Given the description of an element on the screen output the (x, y) to click on. 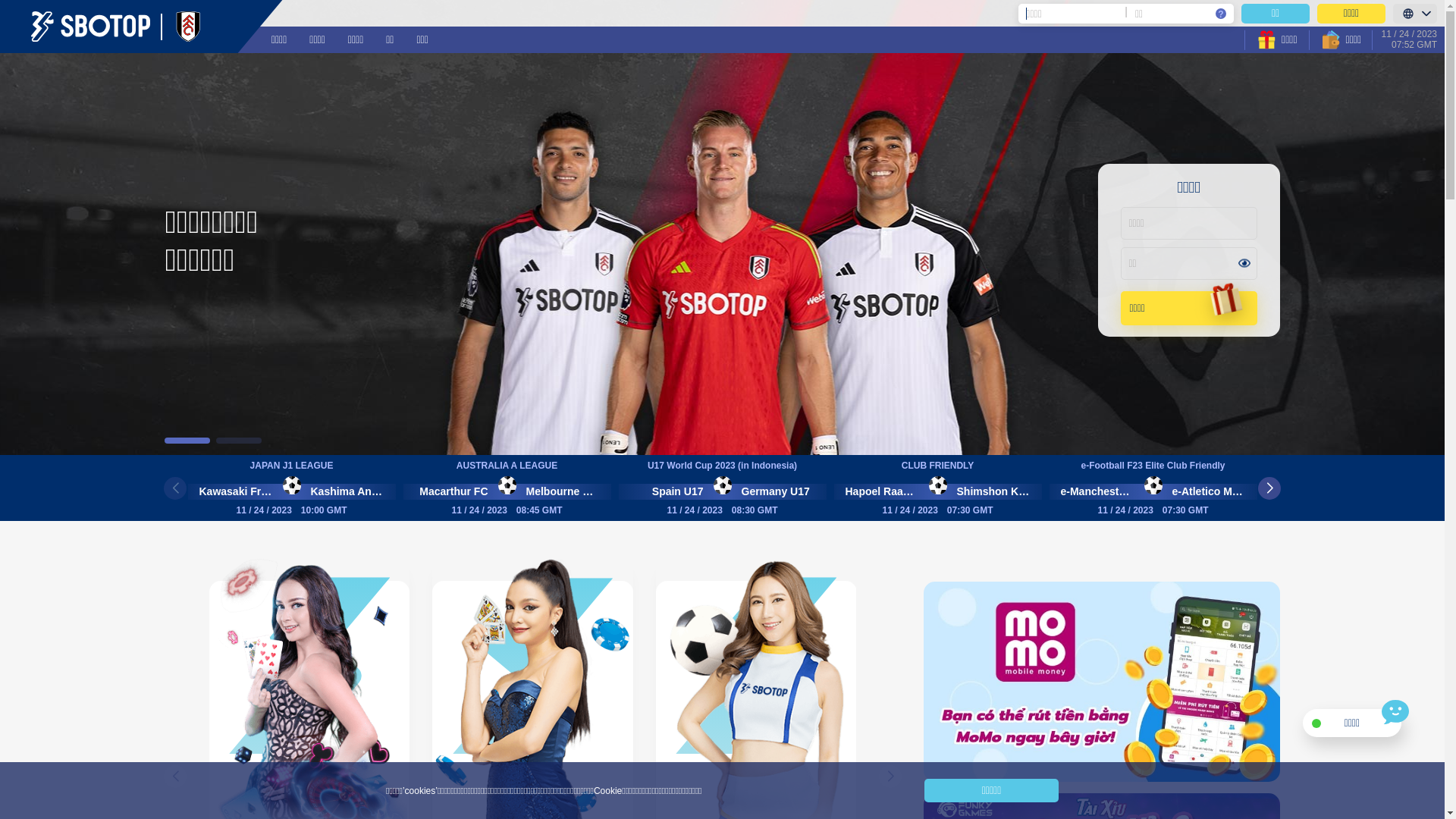
e-Manchester United
e-Atletico Madrid Element type: text (1153, 491)
Macarthur FC
Melbourne Victory Element type: text (507, 491)
CLUB FRIENDLY Element type: text (937, 465)
JAPAN J1 LEAGUE Element type: text (291, 465)
Kawasaki Frontale
Kashima Antlers Element type: text (291, 491)
Show Password Element type: hover (1243, 263)
e-Football F23 Elite Club Friendly Element type: text (1153, 465)
Spain U17
Germany U17 Element type: text (722, 491)
U17 World Cup 2023 (in Indonesia) Element type: text (722, 465)
Hapoel Raanana
Shimshon Kfar Qasem Element type: text (937, 491)
AUSTRALIA A LEAGUE Element type: text (507, 465)
